Given the description of an element on the screen output the (x, y) to click on. 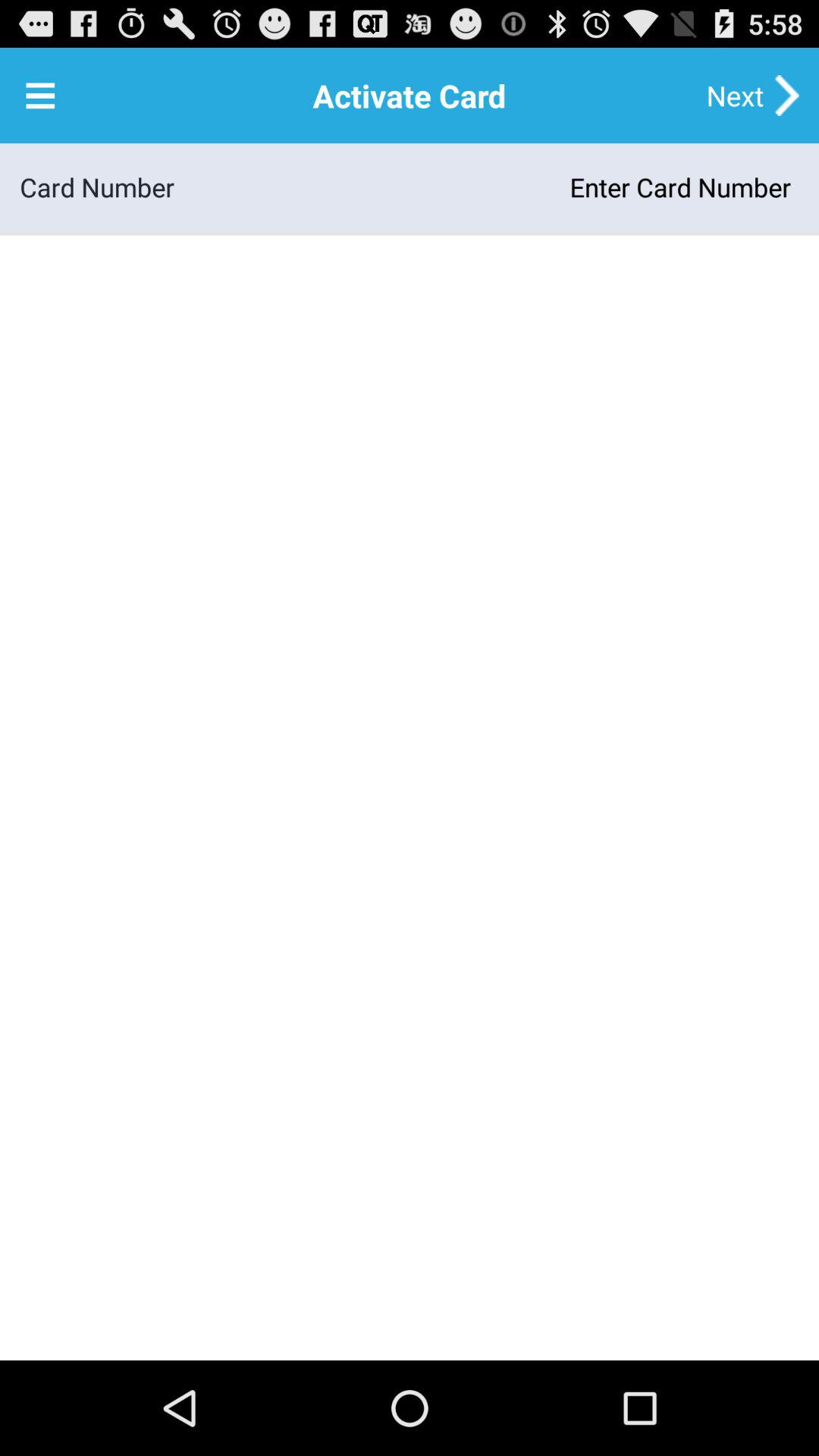
turn on the app above card number icon (39, 95)
